Given the description of an element on the screen output the (x, y) to click on. 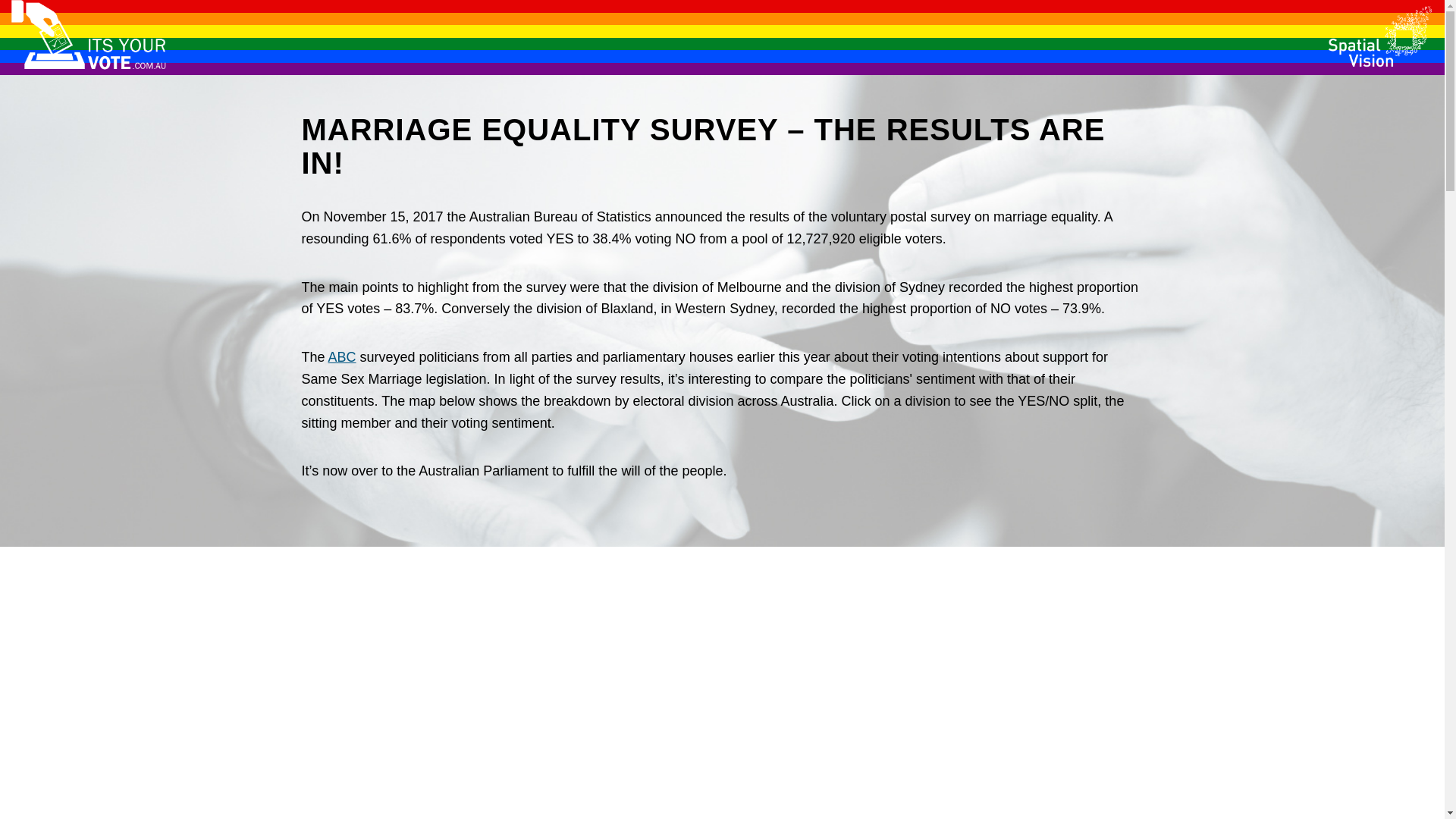
ABC Element type: text (342, 356)
